Given the description of an element on the screen output the (x, y) to click on. 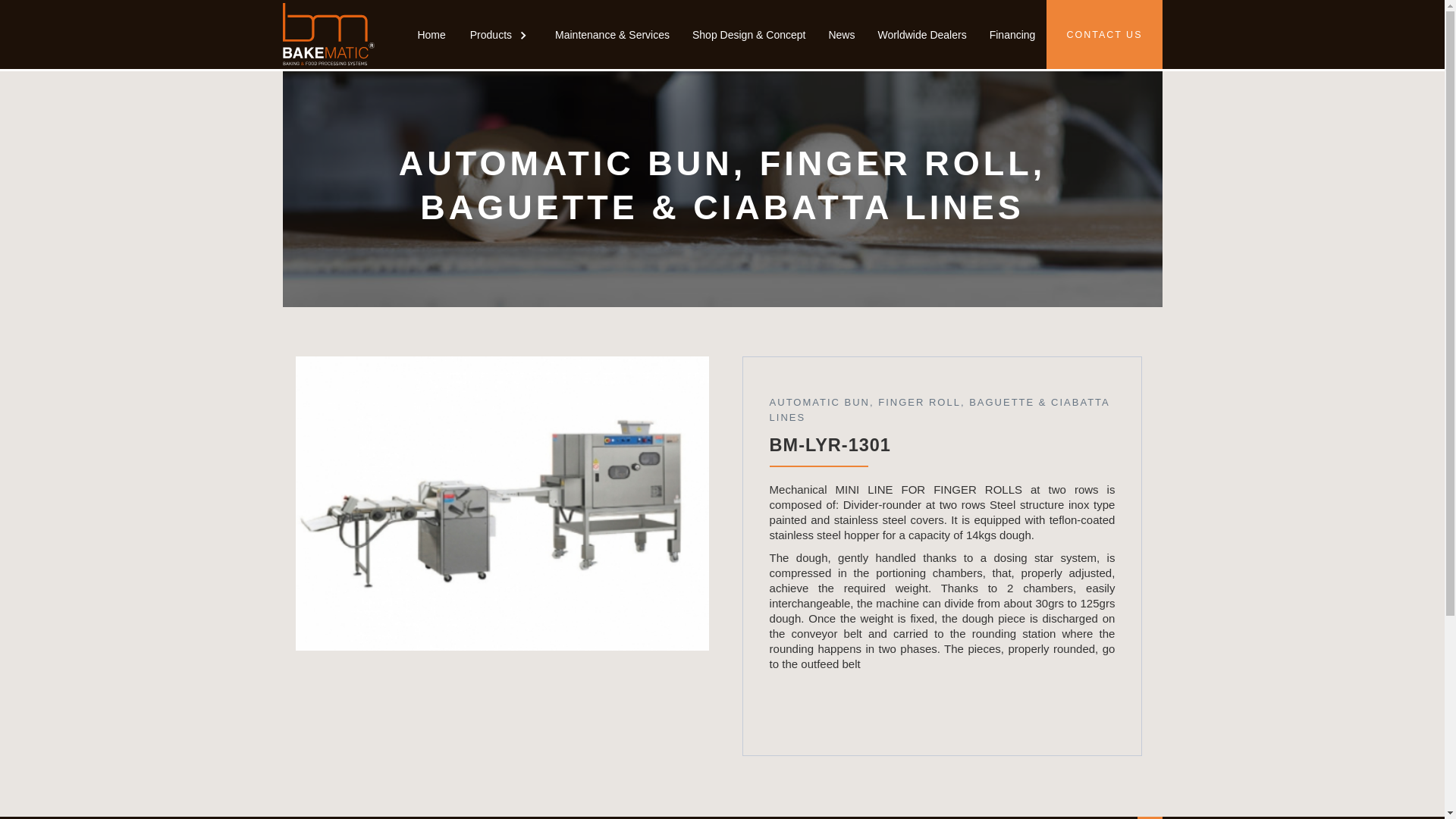
Worldwide Dealers (921, 34)
CONTACT US (1103, 34)
Financing (1012, 34)
